Given the description of an element on the screen output the (x, y) to click on. 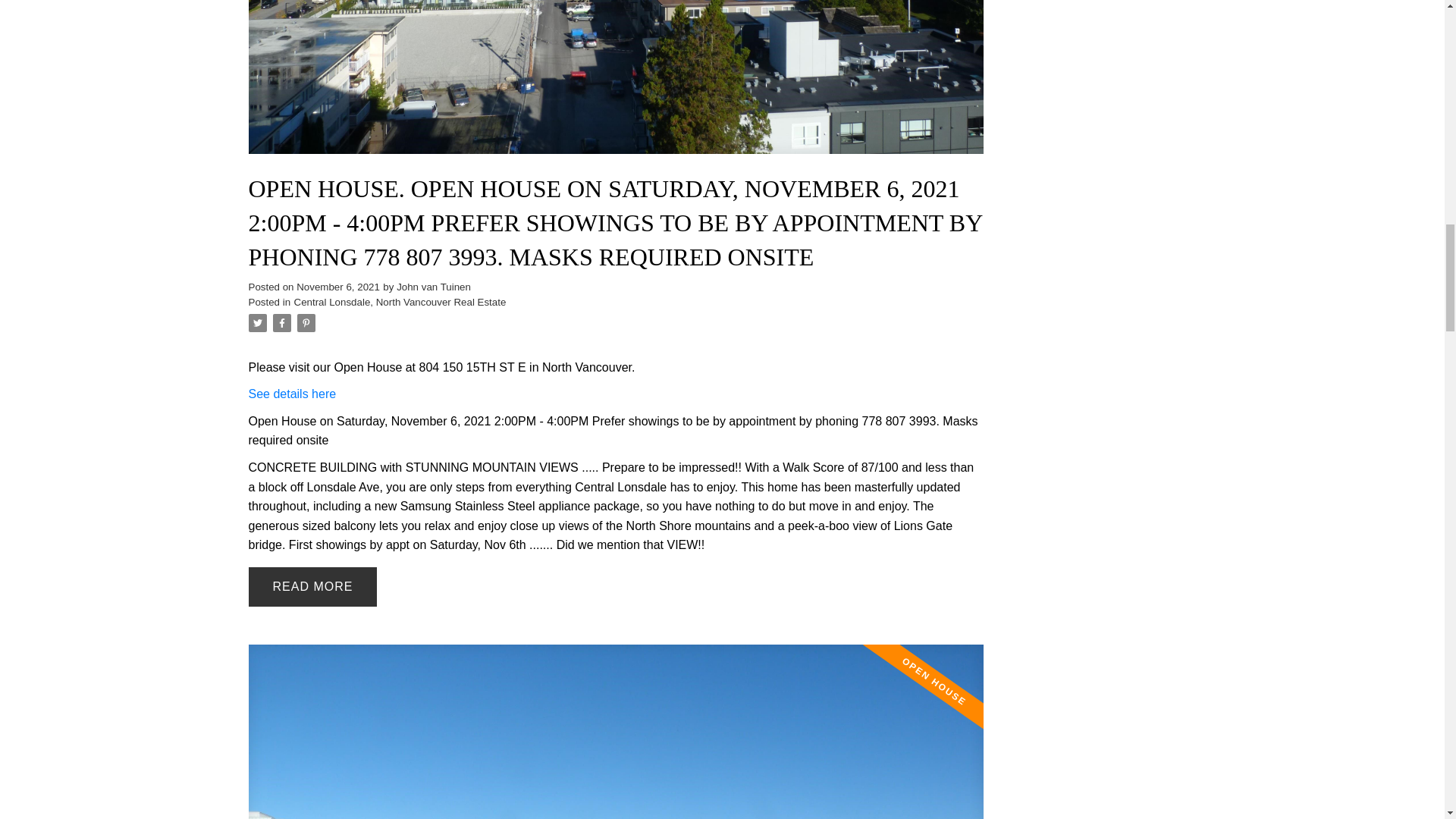
See details here (292, 393)
Read full post (616, 731)
Central Lonsdale, North Vancouver Real Estate (400, 301)
Read full post (616, 85)
